Given the description of an element on the screen output the (x, y) to click on. 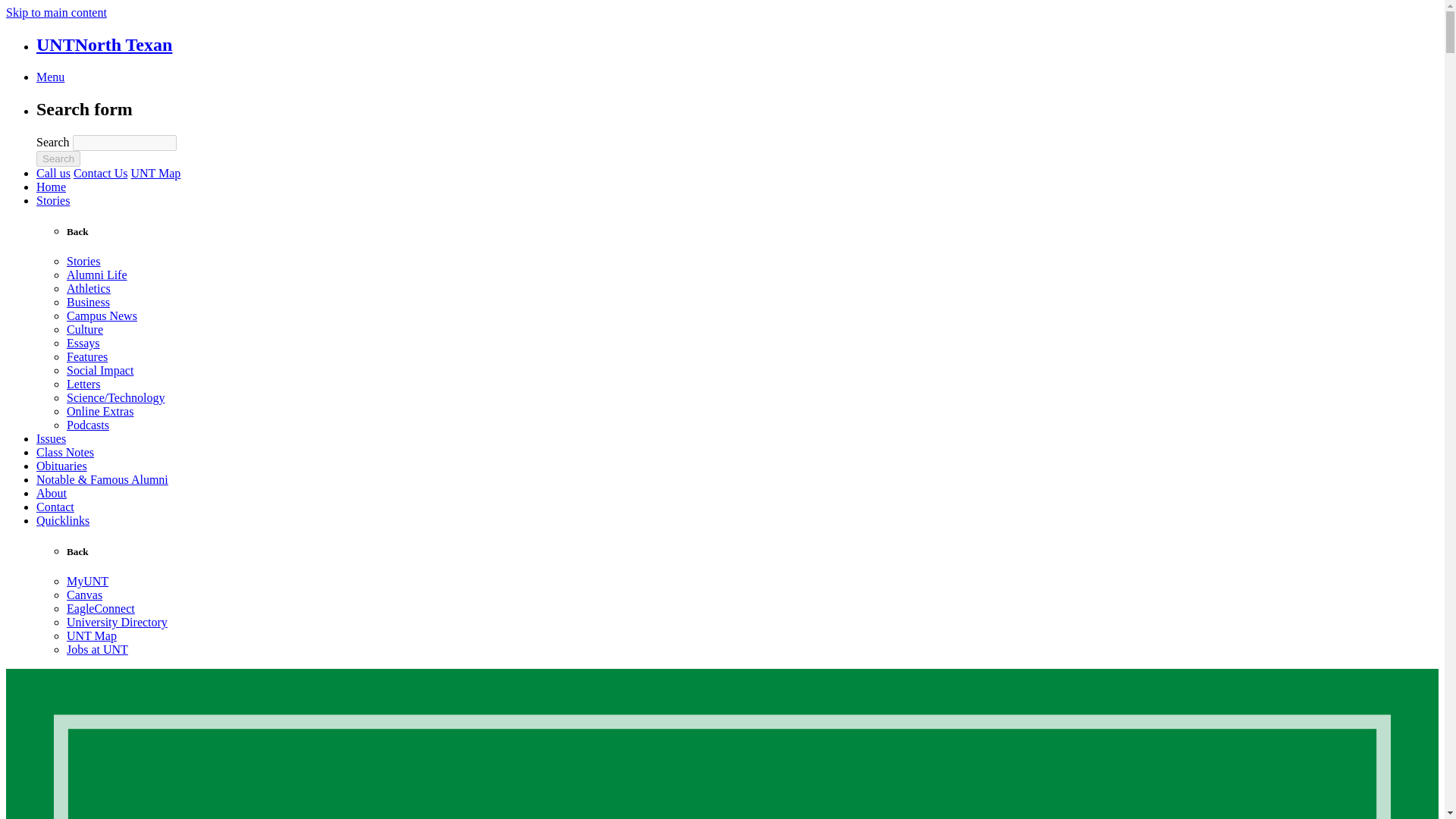
Business (88, 301)
Search (58, 158)
Class Notes (65, 451)
Essays (83, 342)
Contact (55, 506)
About (51, 492)
Quicklinks (62, 520)
Culture (84, 328)
Home (50, 186)
Skip to main content (55, 11)
Athletics (88, 287)
Online Extras (99, 410)
UNT (103, 44)
EagleConnect (100, 608)
Call us (52, 173)
